Given the description of an element on the screen output the (x, y) to click on. 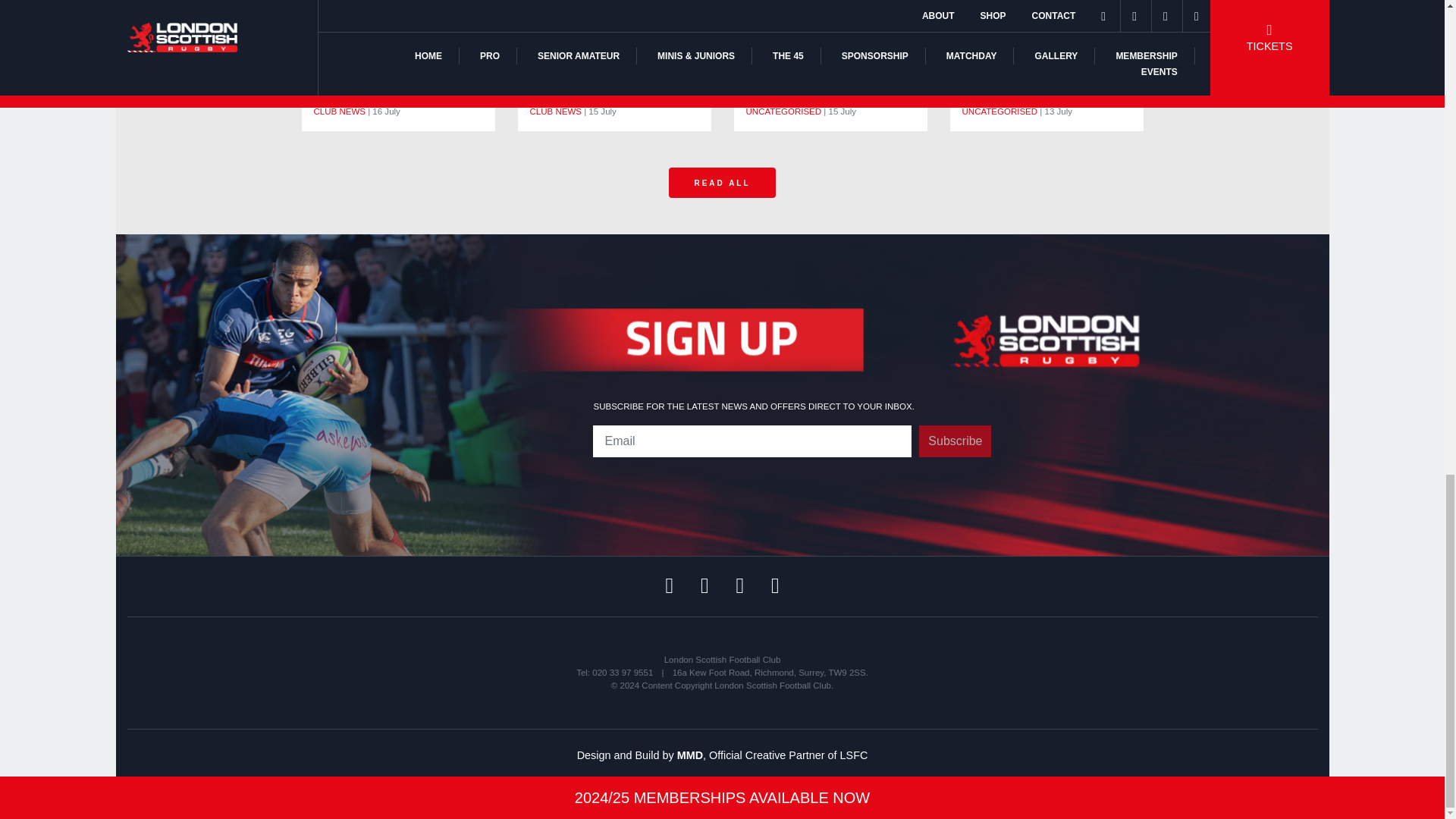
Subscribe (954, 441)
